Given the description of an element on the screen output the (x, y) to click on. 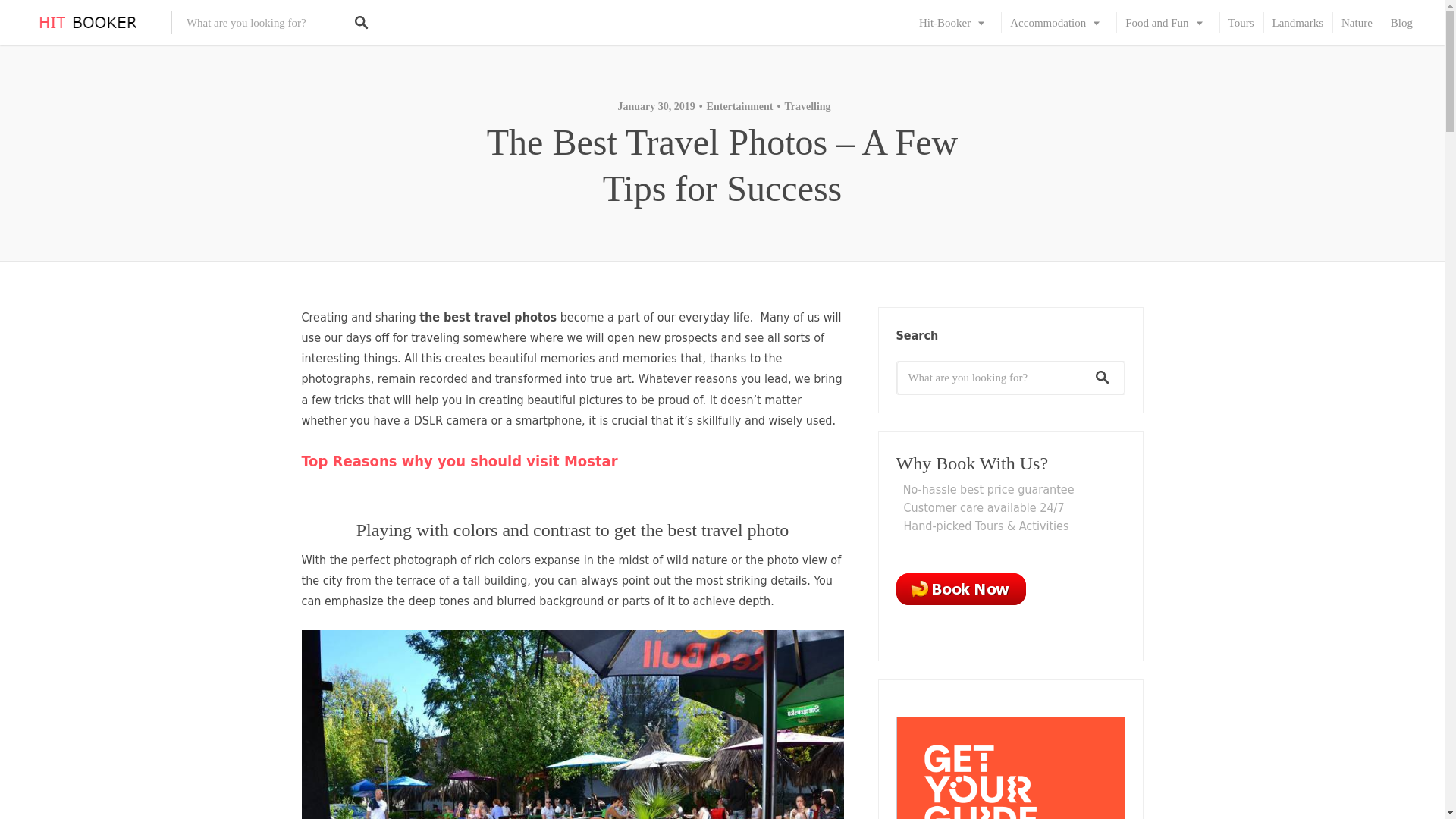
Nature (1356, 22)
January 30, 2019 (655, 106)
Entertainment (735, 106)
Food and Fun (1167, 22)
Accommodation (1058, 22)
Tours (1241, 22)
Travelling (802, 106)
Hit-Booker (955, 22)
Top Reasons why you should visit Mostar (459, 461)
Landmarks (1297, 22)
